Given the description of an element on the screen output the (x, y) to click on. 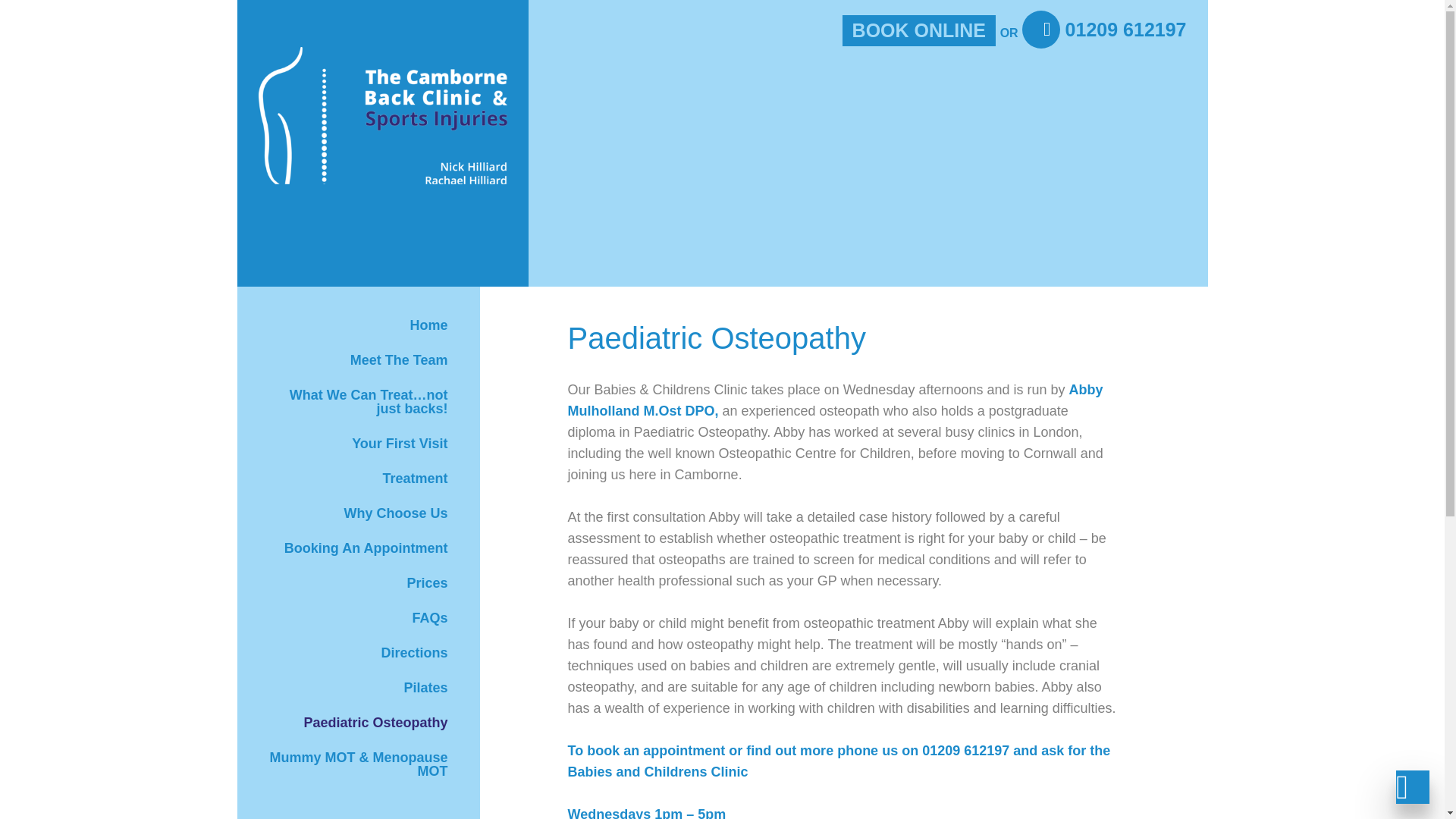
Your First Visit (357, 443)
Treatment (357, 478)
Booking An Appointment (357, 547)
Home (357, 325)
Prices (357, 582)
Why Choose Us (357, 513)
FAQs (357, 617)
Directions (357, 652)
Meet The Team (357, 360)
Pilates (357, 687)
